Given the description of an element on the screen output the (x, y) to click on. 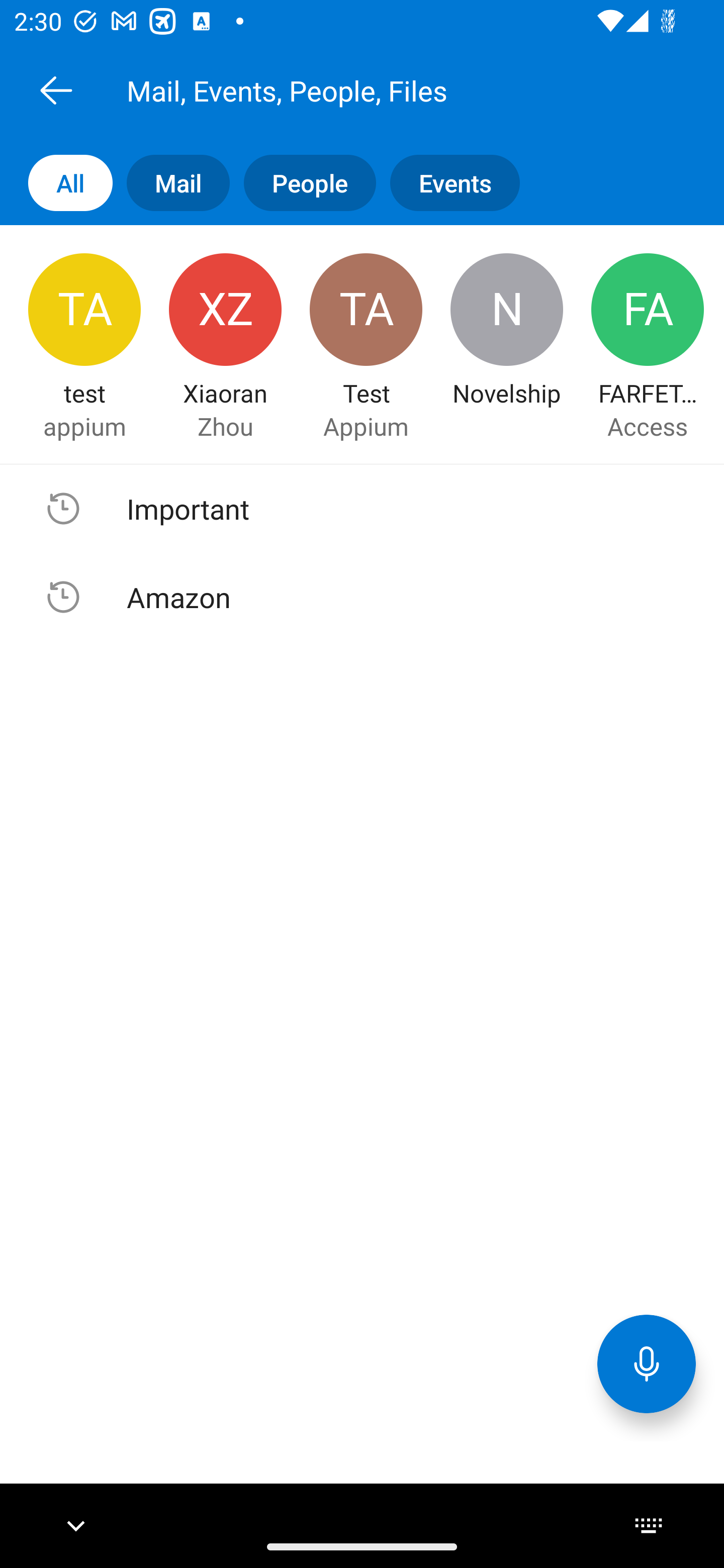
Back (55, 89)
Mail, Events, People, Files (384, 89)
Mail (170, 183)
People (302, 183)
Events (447, 183)
Suggested search , Text, Important Important (362, 508)
Suggested search , Text, Amazon Amazon (362, 597)
Voice Assistant (646, 1362)
